Given the description of an element on the screen output the (x, y) to click on. 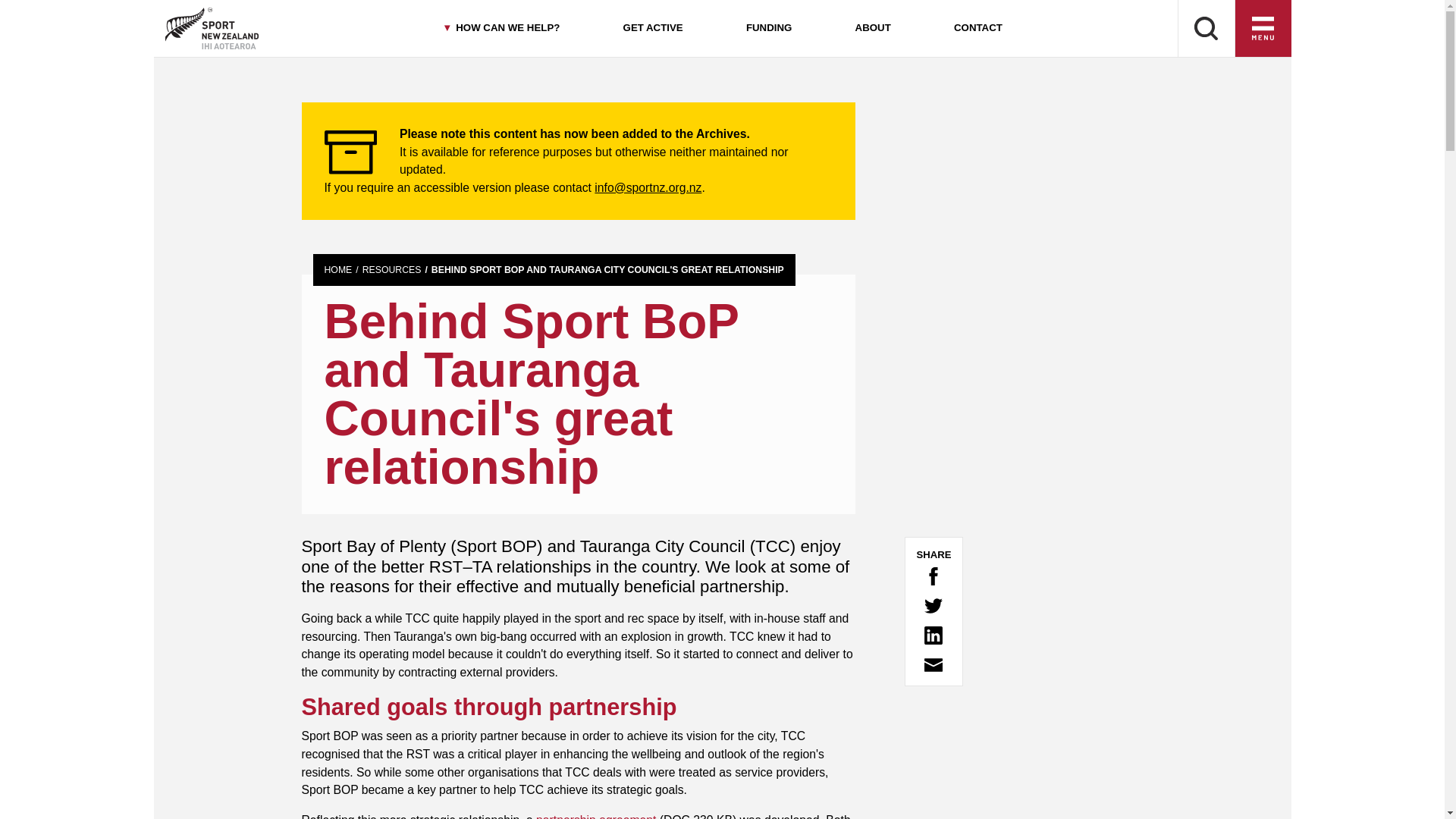
FUNDING (768, 29)
Open the burger navigation (1262, 28)
GET ACTIVE (652, 29)
CONTACT (977, 29)
HOW CAN WE HELP? (500, 29)
Share via Email (932, 665)
Relationship Agreement (595, 816)
Search (1206, 28)
ABOUT (872, 29)
